Given the description of an element on the screen output the (x, y) to click on. 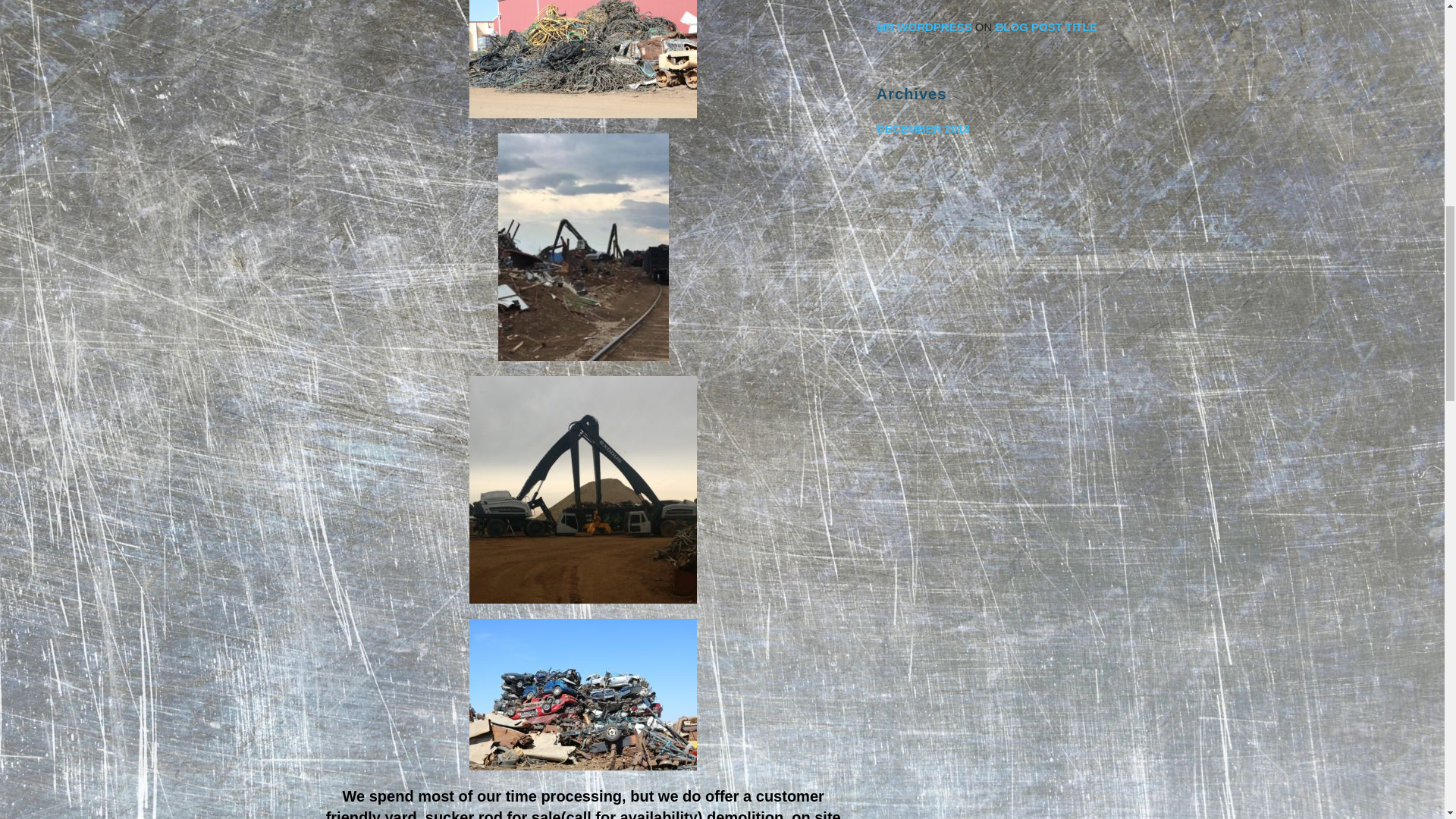
MR WORDPRESS (924, 26)
DECEMBER 2018 (1000, 128)
BLOG POST TITLE (1046, 26)
